Given the description of an element on the screen output the (x, y) to click on. 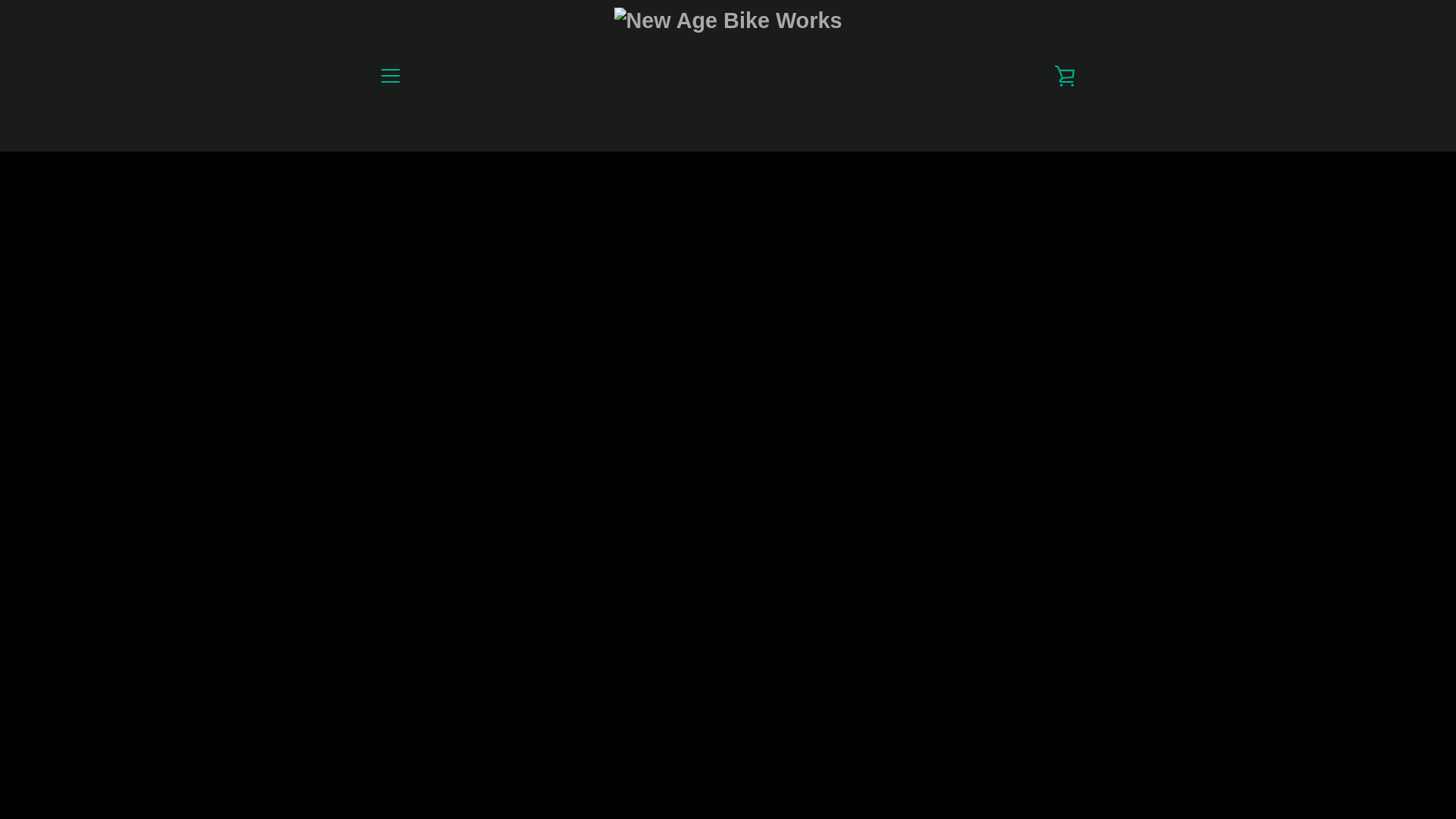
VIEW CART (1065, 75)
MENU (390, 75)
